Given the description of an element on the screen output the (x, y) to click on. 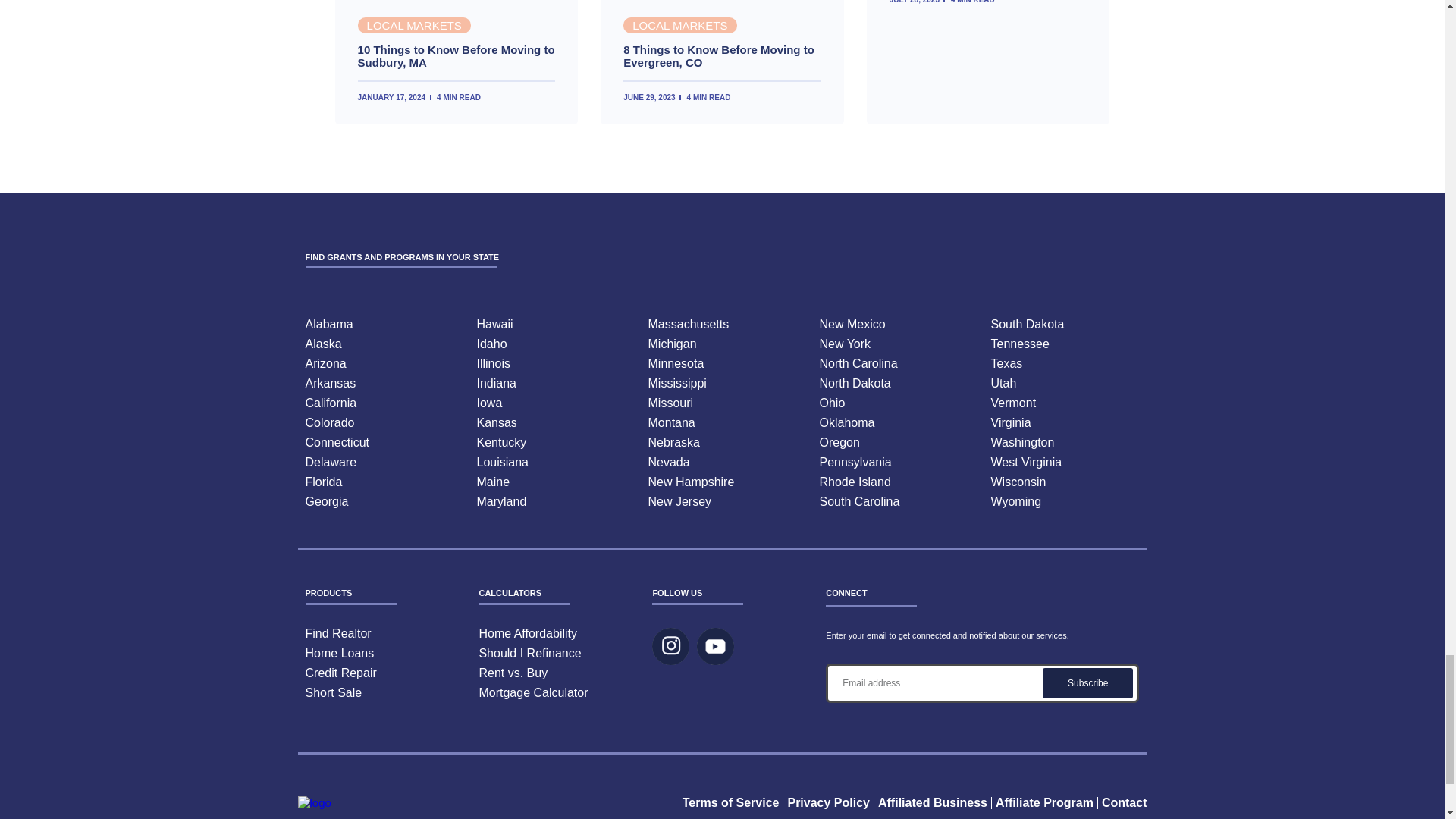
10 Things to Know Before Moving to Sudbury, MA (457, 55)
8 Things to Know Before Moving to Evergreen, CO (722, 55)
